Given the description of an element on the screen output the (x, y) to click on. 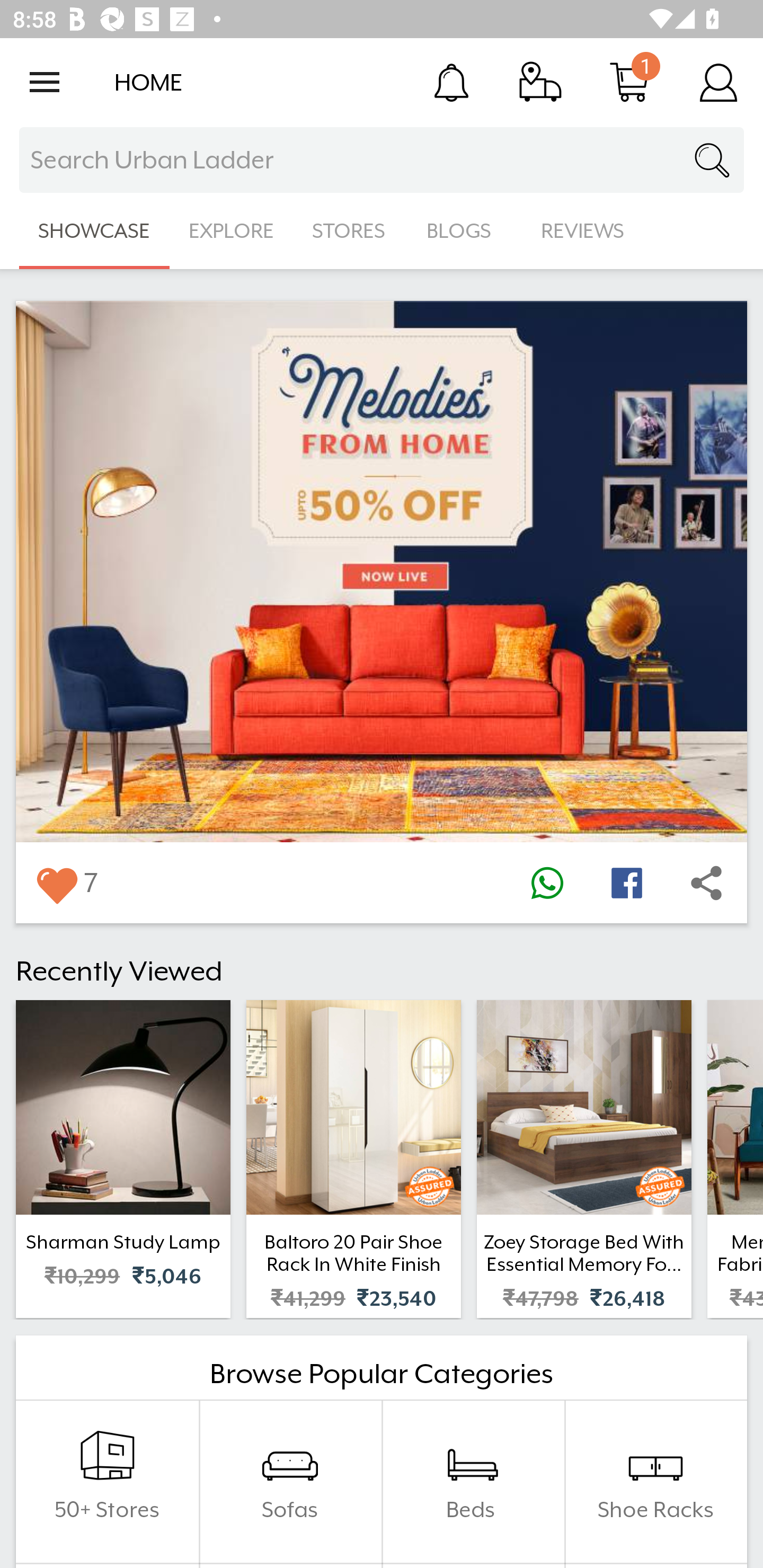
Open navigation drawer (44, 82)
Notification (450, 81)
Track Order (540, 81)
Cart (629, 81)
Account Details (718, 81)
Search Urban Ladder  (381, 159)
SHOWCASE (94, 230)
EXPLORE (230, 230)
STORES (349, 230)
BLOGS (464, 230)
REVIEWS (582, 230)
 (55, 882)
 (547, 882)
 (626, 882)
 (706, 882)
Sharman Study Lamp ₹10,299 ₹5,046 (123, 1159)
50+ Stores (106, 1481)
Sofas (289, 1481)
Beds  (473, 1481)
Shoe Racks (655, 1481)
